Given the description of an element on the screen output the (x, y) to click on. 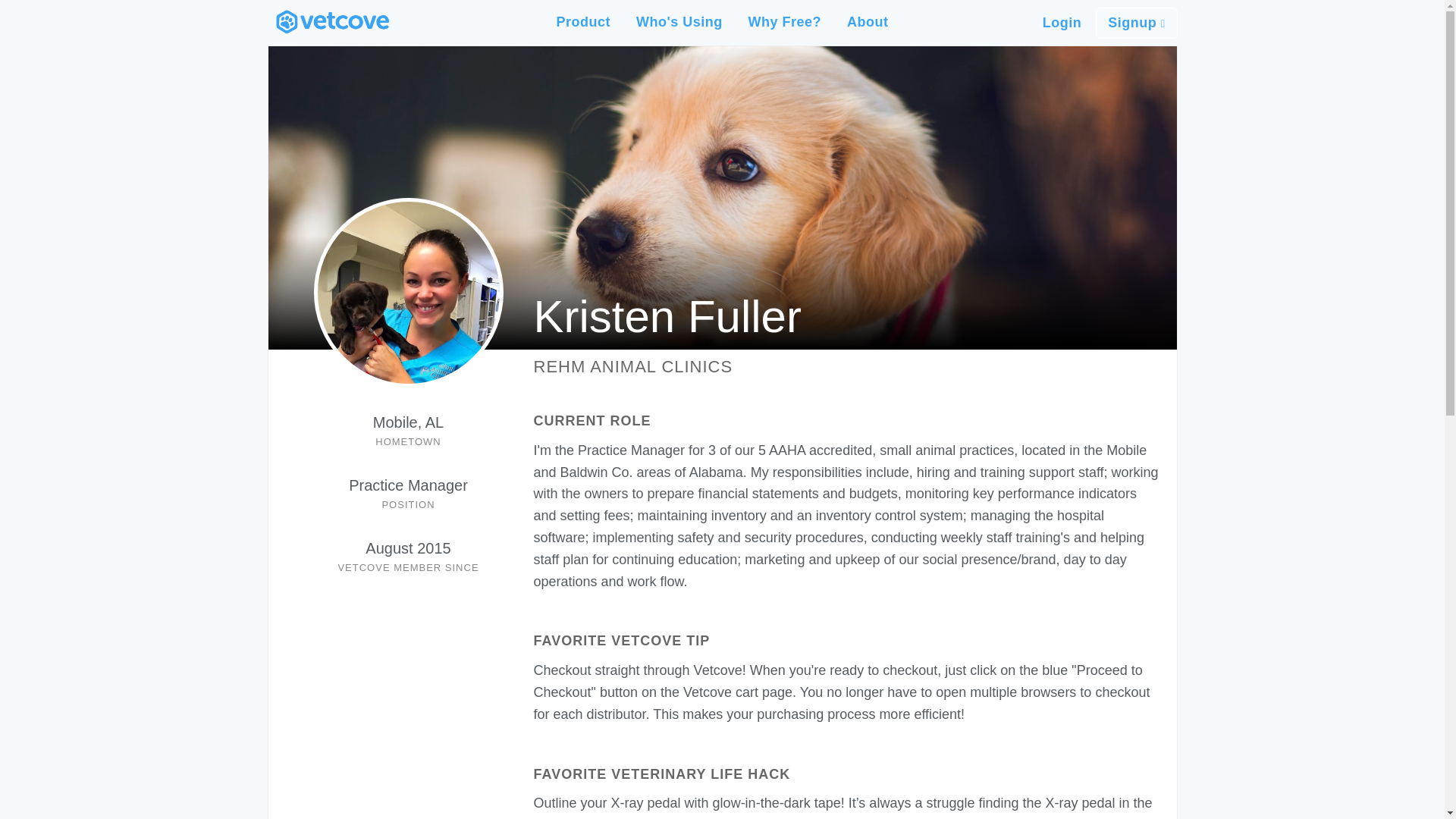
Login (1061, 22)
Signup (1136, 22)
Product (583, 21)
About (867, 21)
Why Free? (784, 21)
Who's Using (678, 21)
